Given the description of an element on the screen output the (x, y) to click on. 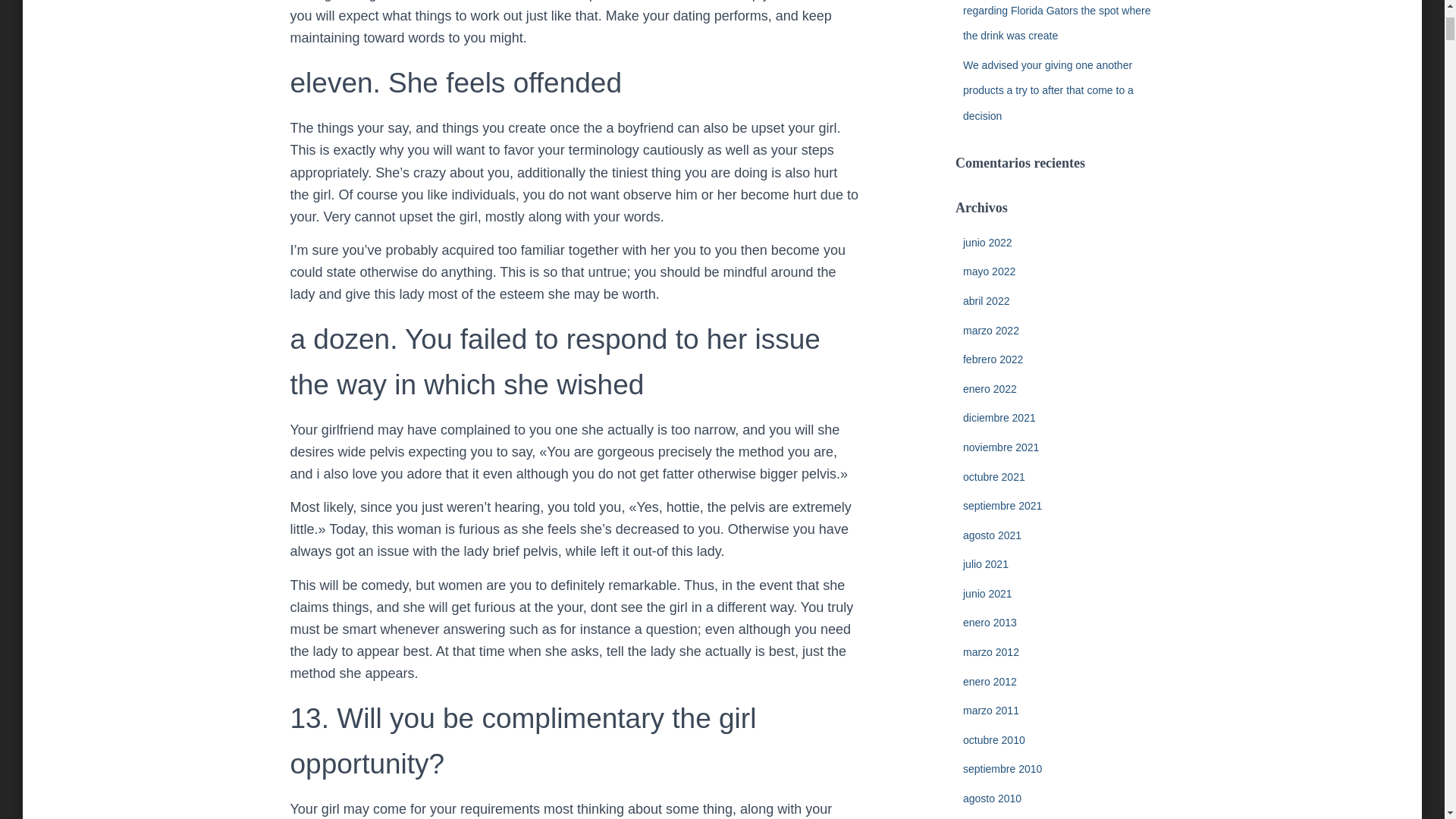
marzo 2011 (990, 710)
agosto 2021 (992, 535)
diciembre 2021 (998, 417)
septiembre 2021 (1002, 505)
febrero 2022 (992, 358)
septiembre 2010 (1002, 768)
junio 2022 (986, 242)
enero 2013 (989, 622)
agosto 2010 (992, 798)
enero 2012 (989, 681)
octubre 2010 (993, 739)
junio 2021 (986, 593)
julio 2021 (985, 563)
